Given the description of an element on the screen output the (x, y) to click on. 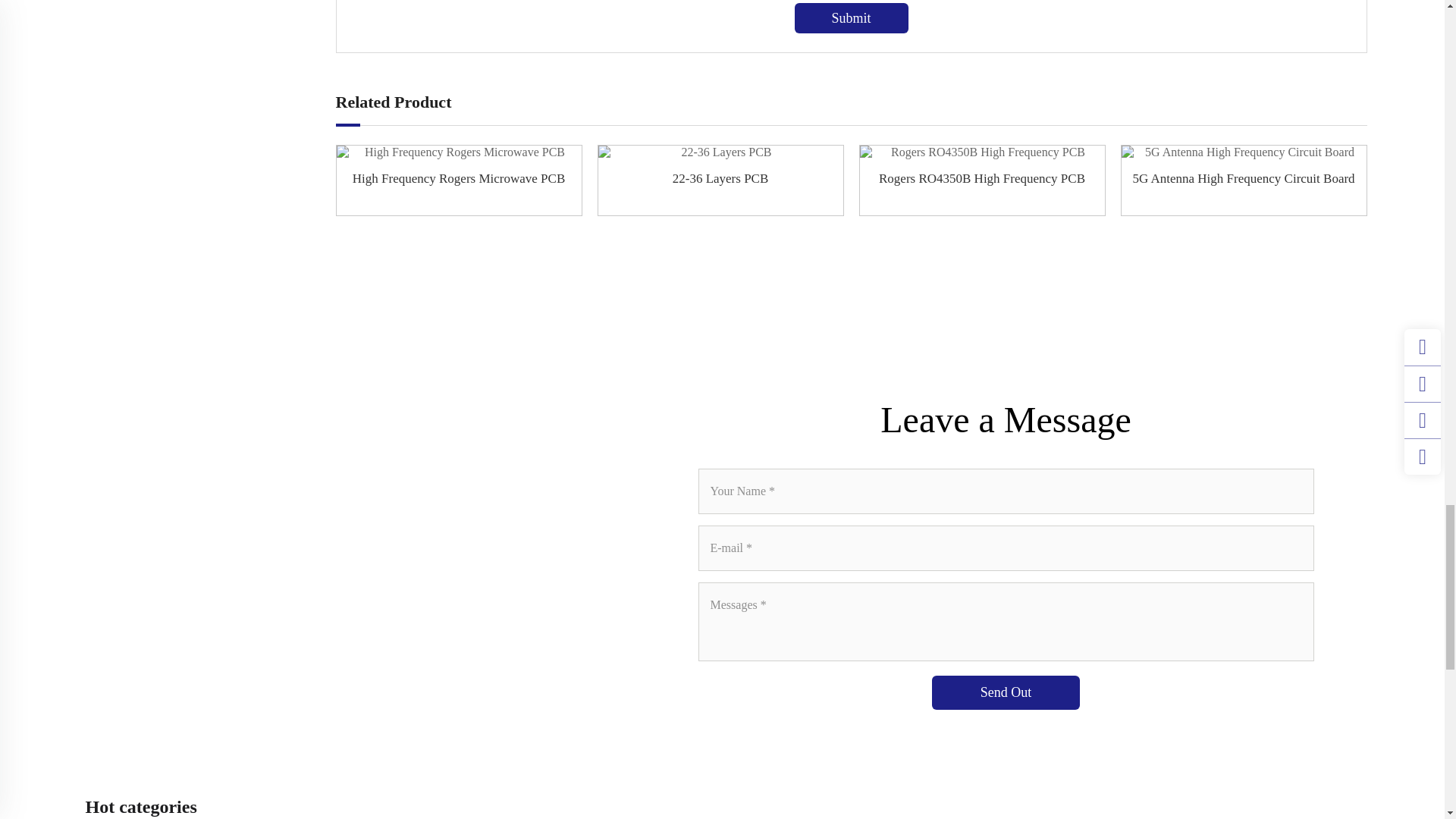
Submit (851, 18)
